Given the description of an element on the screen output the (x, y) to click on. 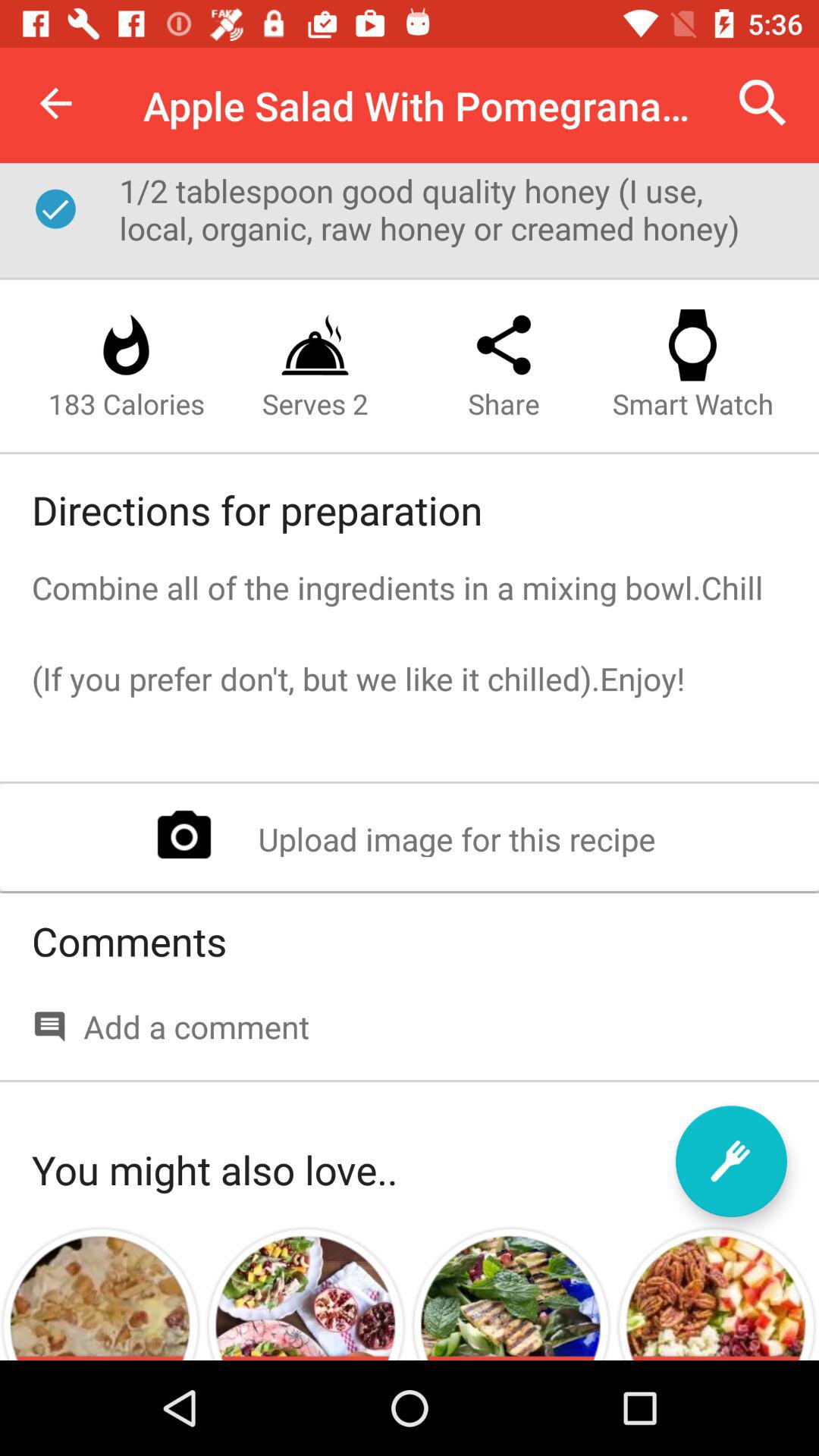
press the item above 1 2 tablespoon icon (55, 103)
